Given the description of an element on the screen output the (x, y) to click on. 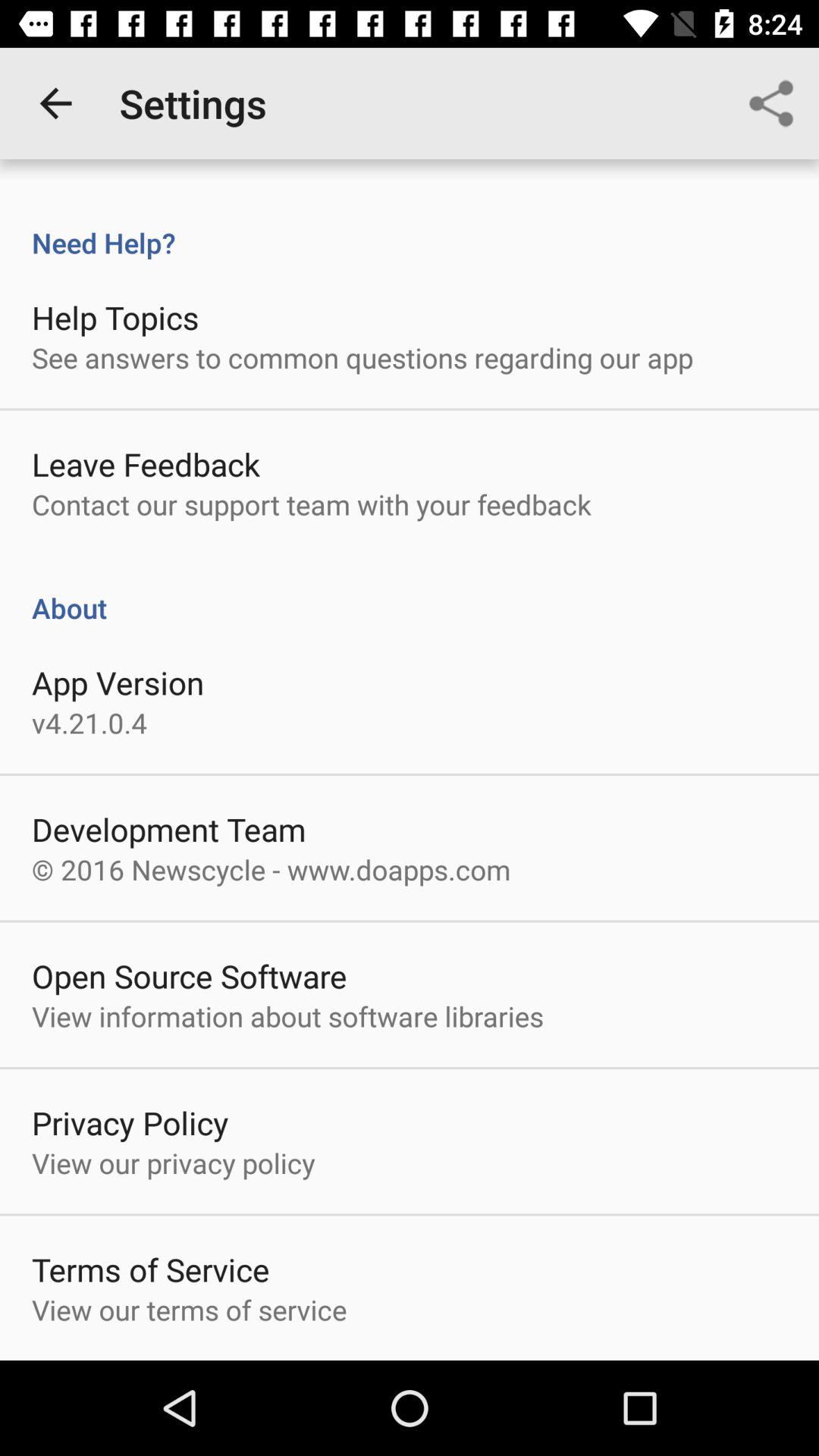
scroll to view information about item (287, 1016)
